Given the description of an element on the screen output the (x, y) to click on. 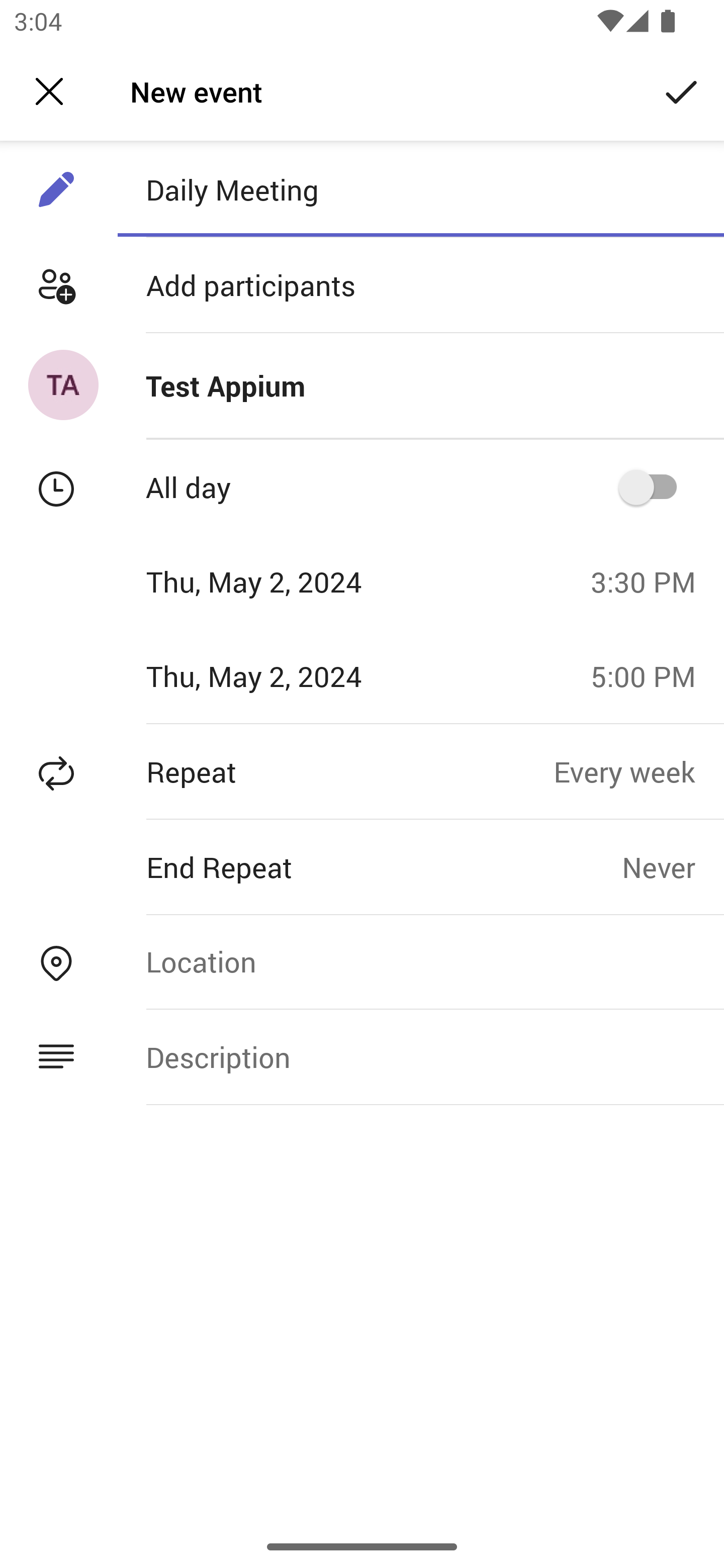
Back (49, 91)
Send invite (681, 90)
Daily Meeting (420, 189)
Add participants Add participants option (362, 285)
All day (654, 486)
Thu, May 2, 2024 Starts Thursday May 02, 2024 (288, 581)
3:30 PM Start time 3:30 PM (650, 581)
Thu, May 2, 2024 Ends Thursday May 02, 2024 (288, 675)
5:00 PM End time 5:00 PM (650, 675)
Repeat (276, 771)
Every week Repeat Every week (638, 771)
End Repeat (310, 867)
Never End repeat Never (672, 867)
Location (420, 961)
Description (420, 1056)
